Given the description of an element on the screen output the (x, y) to click on. 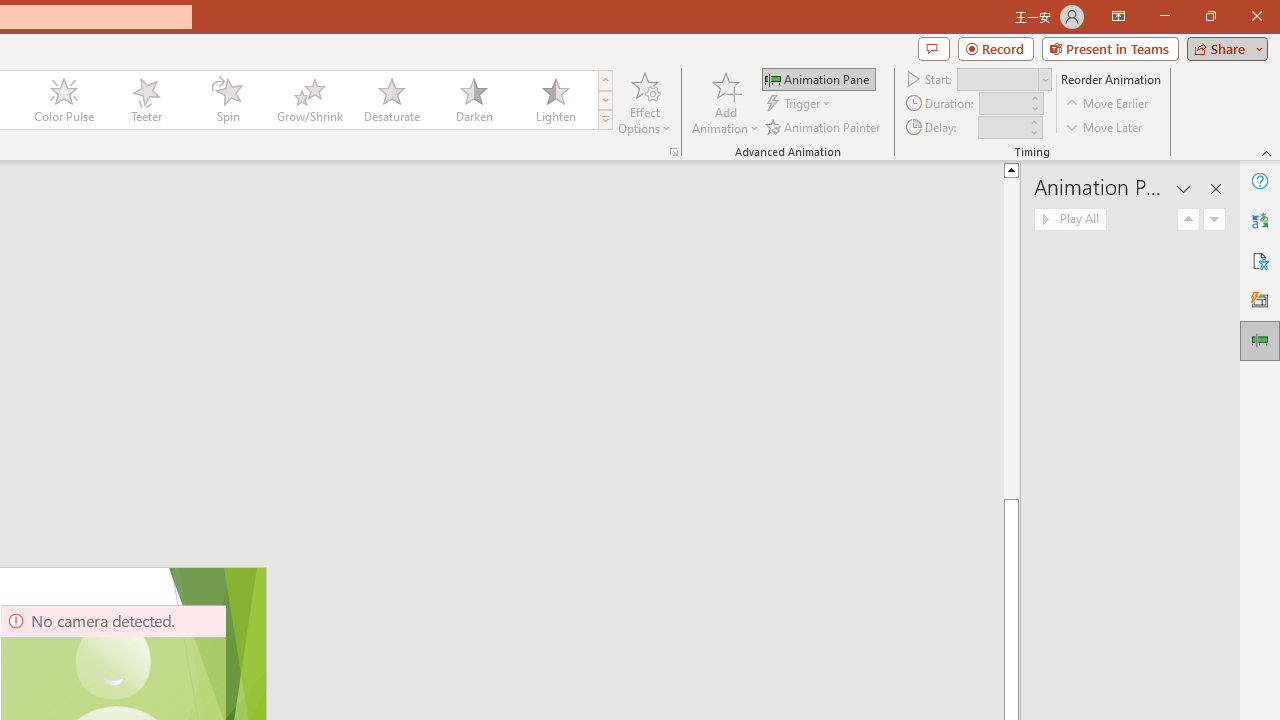
Animation Duration (1003, 103)
Lighten (555, 100)
More (1033, 121)
Play All (1070, 219)
Animation Delay (1002, 127)
Move Down (1214, 219)
Move Earlier (1107, 103)
